Given the description of an element on the screen output the (x, y) to click on. 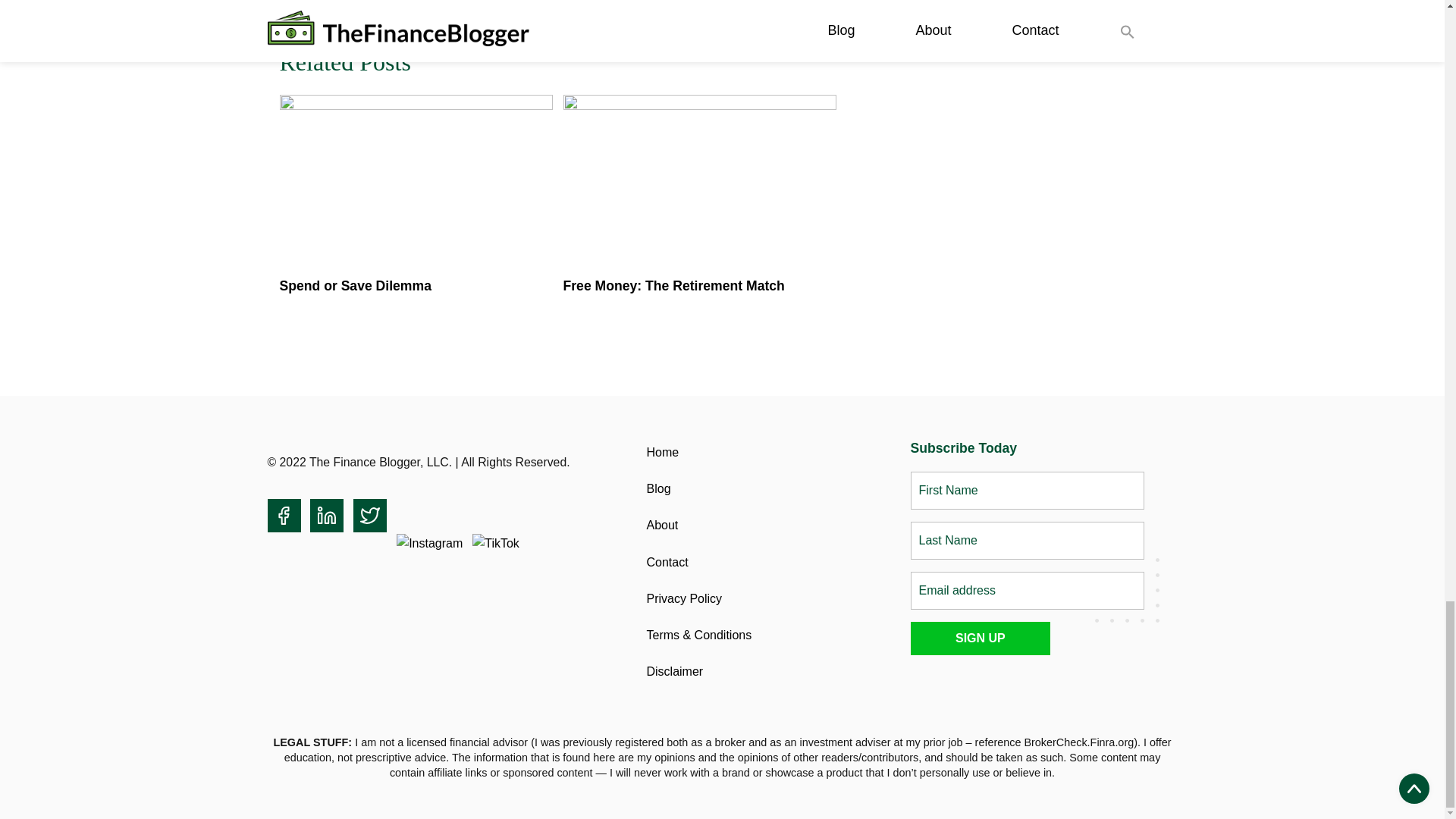
Twitter (370, 515)
Spend or Save Dilemma (354, 285)
Spend or Save Dilemma (354, 285)
Sign up (979, 638)
Contact (666, 562)
Privacy Policy (684, 598)
Facebook (282, 515)
Sign up (979, 638)
Home (662, 451)
Disclaimer (674, 671)
